Given the description of an element on the screen output the (x, y) to click on. 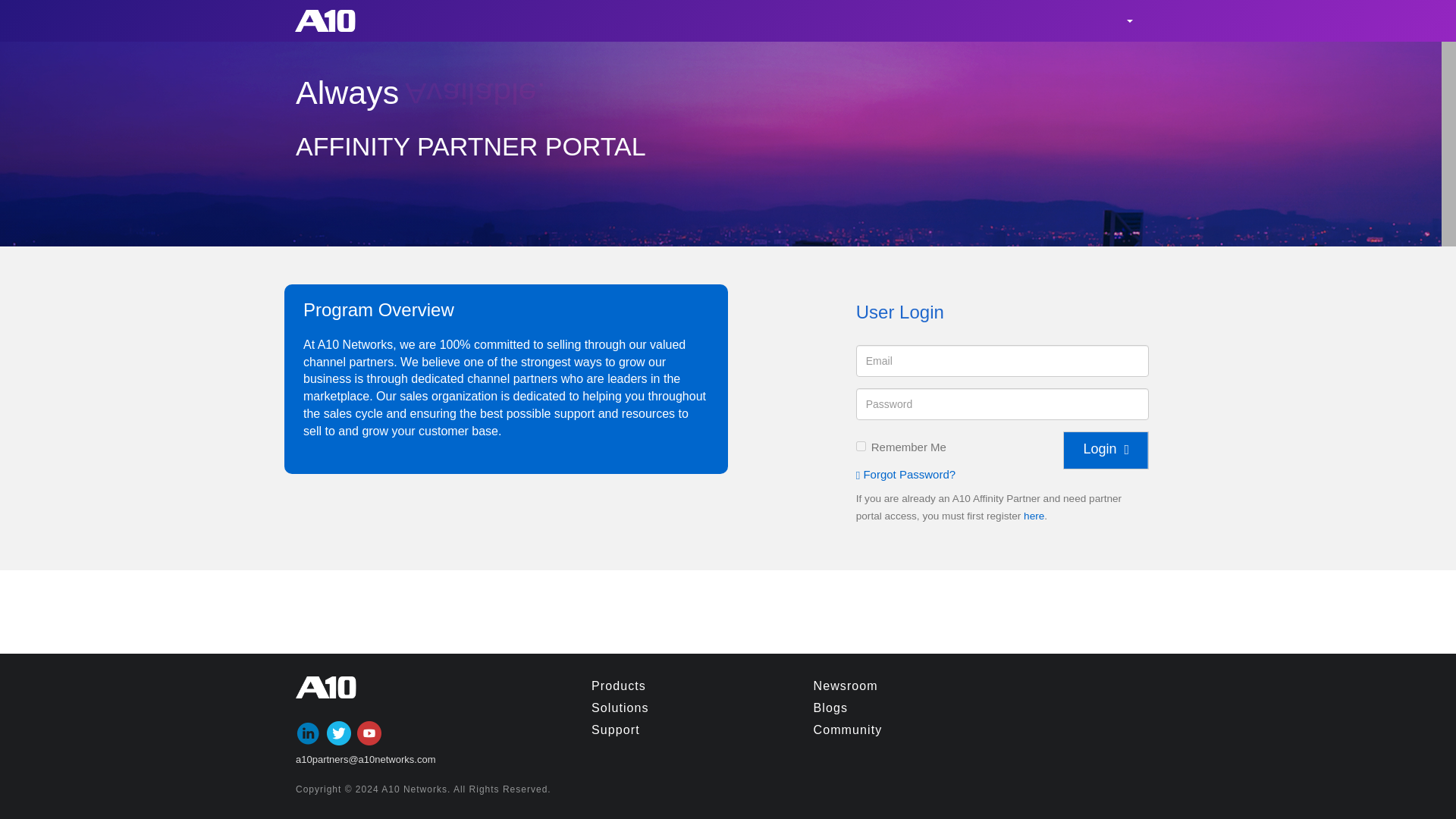
Solutions (620, 707)
Login (1105, 450)
Support (615, 729)
here (1033, 515)
on (861, 446)
Blogs (829, 707)
Forgot Password? (905, 473)
Products (618, 685)
Community (847, 729)
Newsroom (844, 685)
